Given the description of an element on the screen output the (x, y) to click on. 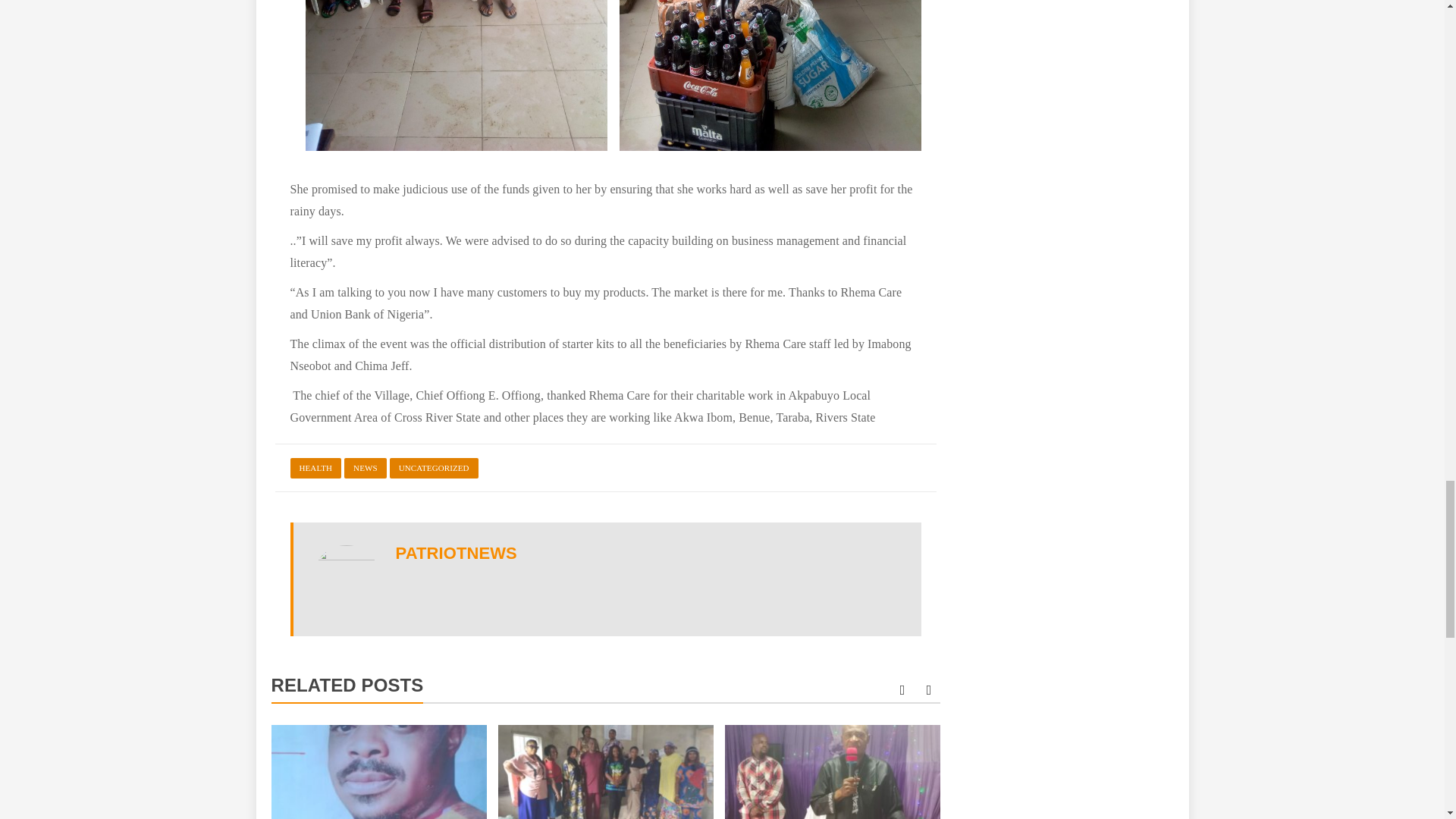
NEWS (365, 467)
HEALTH (314, 467)
PATRIOTNEWS (456, 552)
UNCATEGORIZED (434, 467)
